Given the description of an element on the screen output the (x, y) to click on. 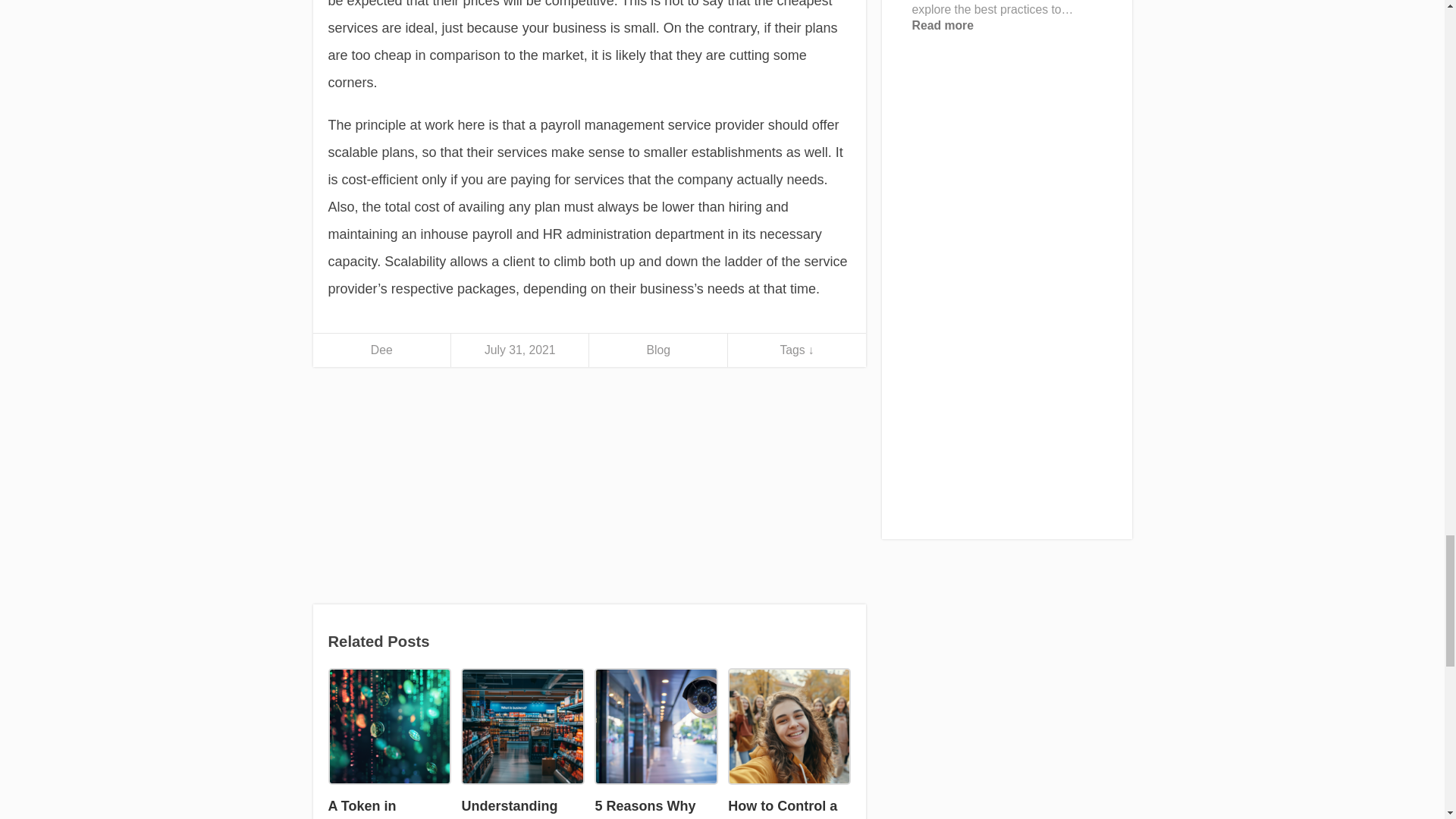
Blog (657, 349)
Dee (382, 349)
